Given the description of an element on the screen output the (x, y) to click on. 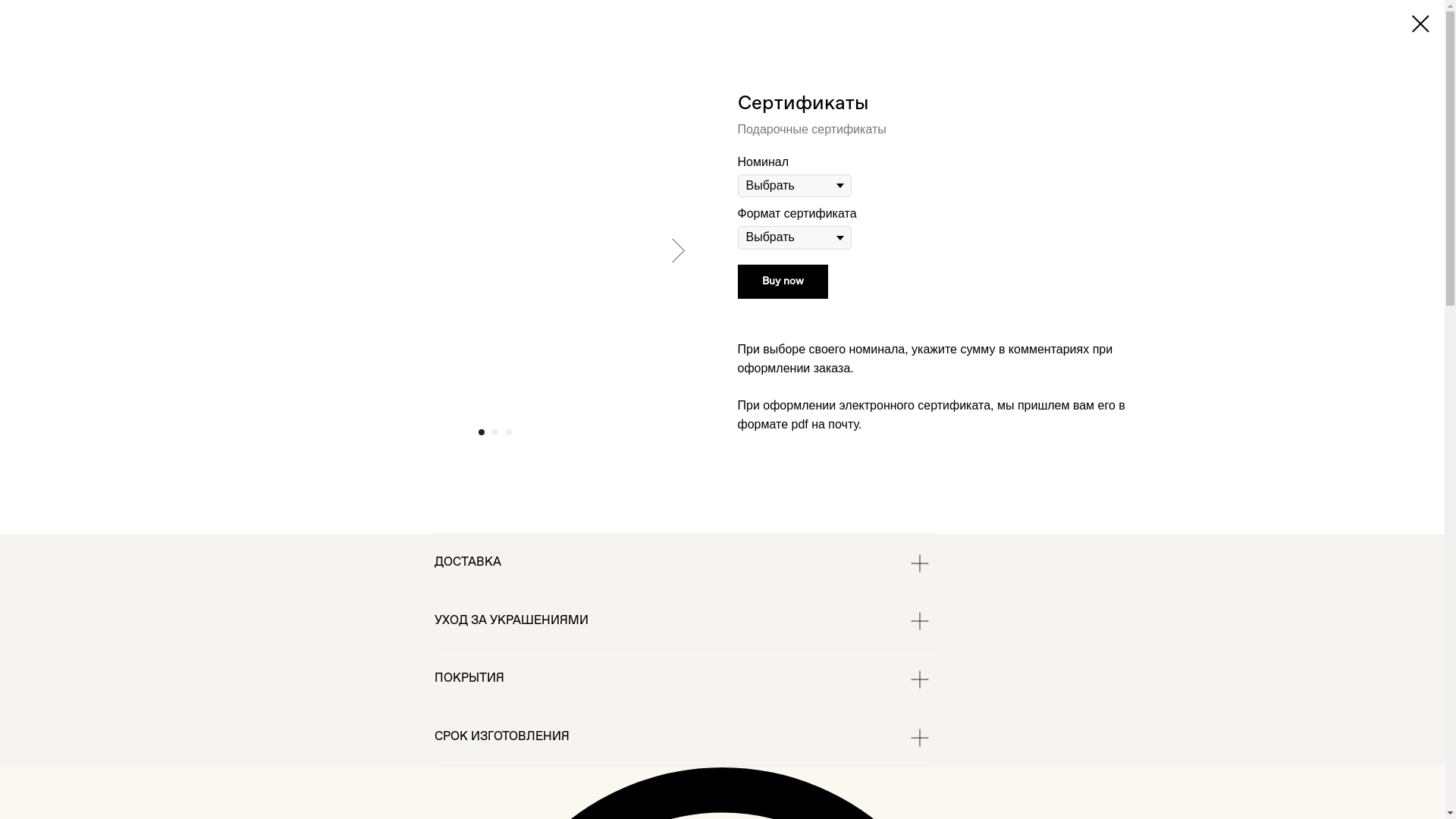
Buy now Element type: text (782, 281)
